Given the description of an element on the screen output the (x, y) to click on. 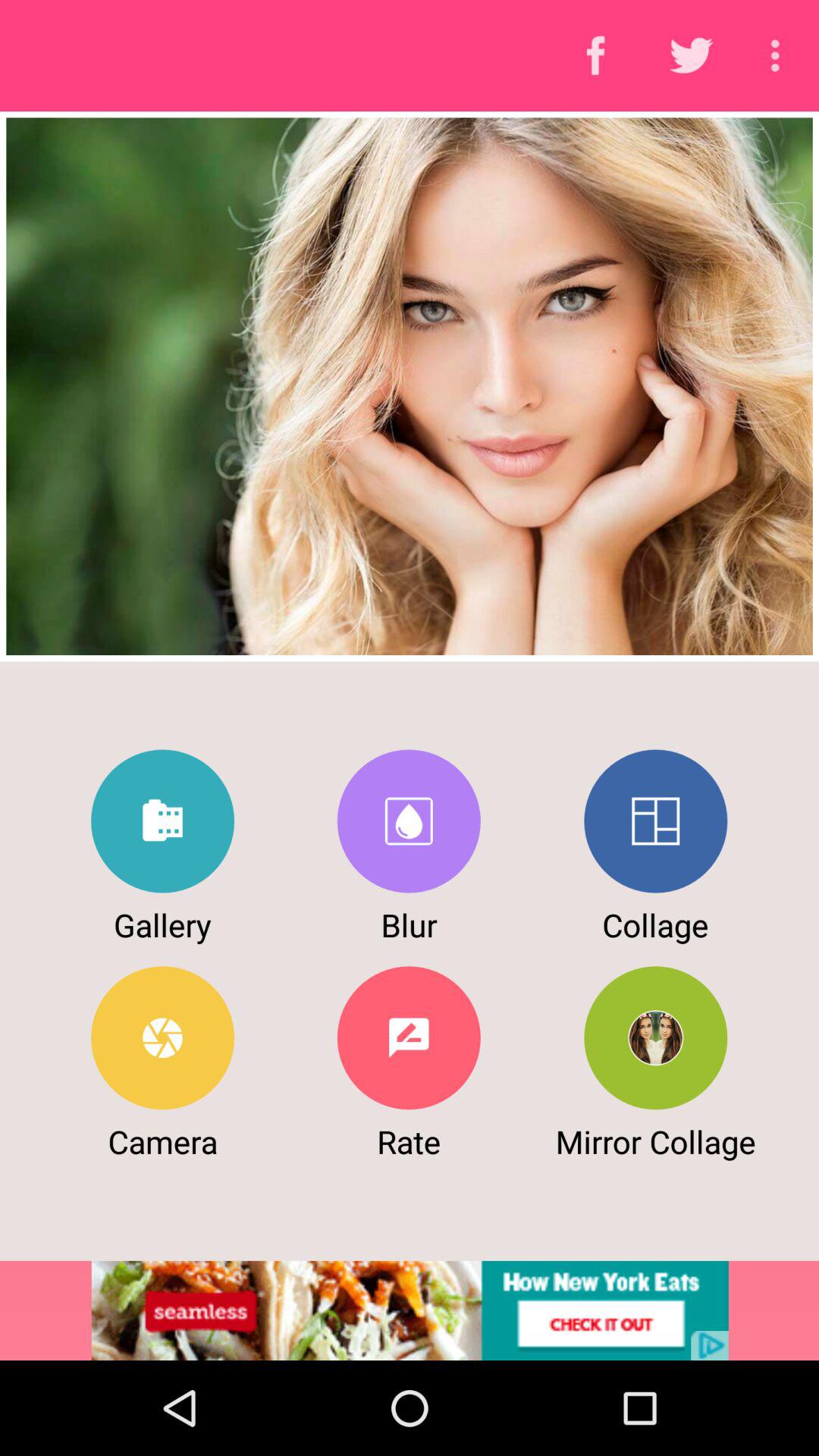
announcement (409, 1310)
